Given the description of an element on the screen output the (x, y) to click on. 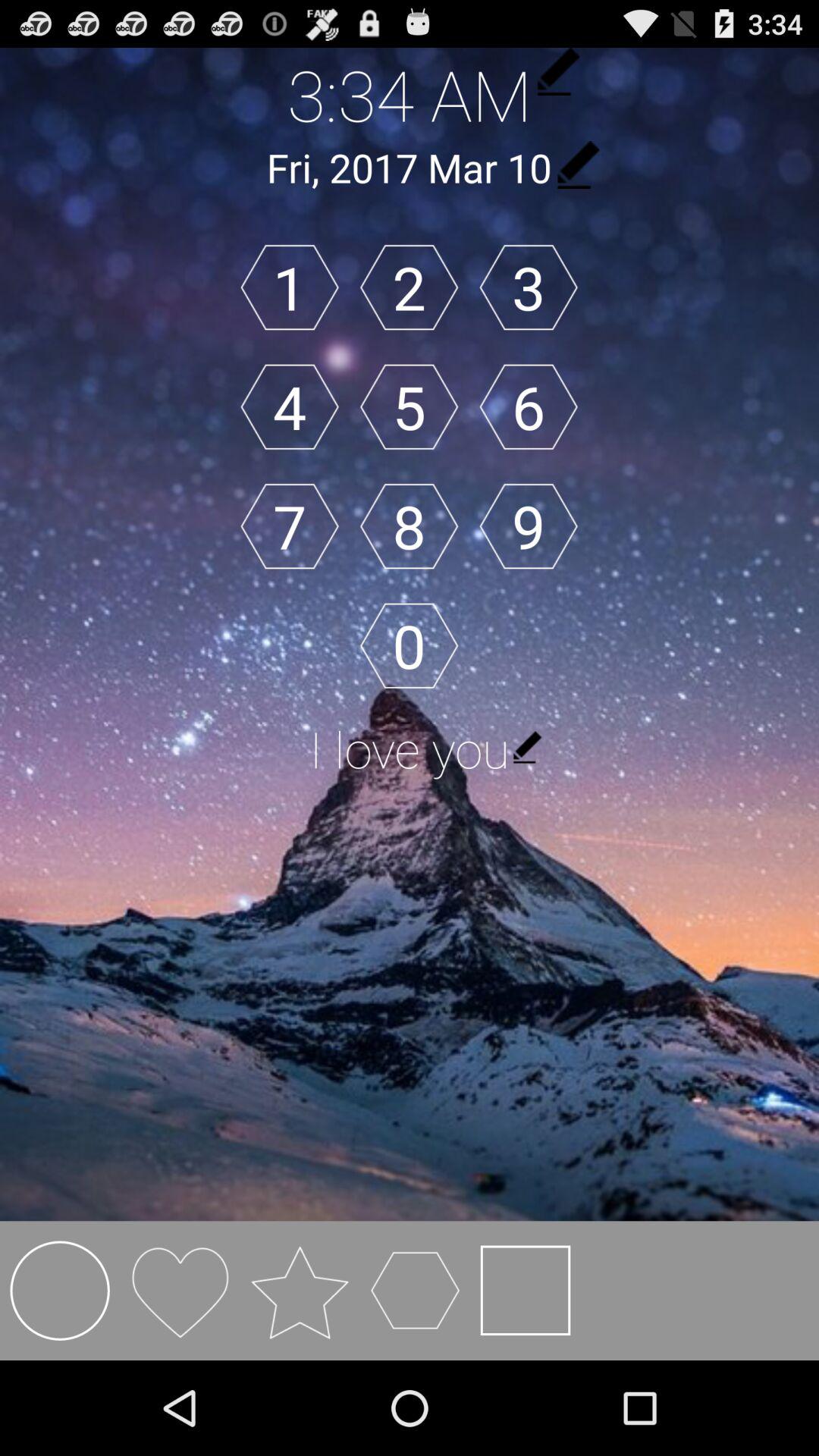
launch the button next to the 5 (289, 406)
